Given the description of an element on the screen output the (x, y) to click on. 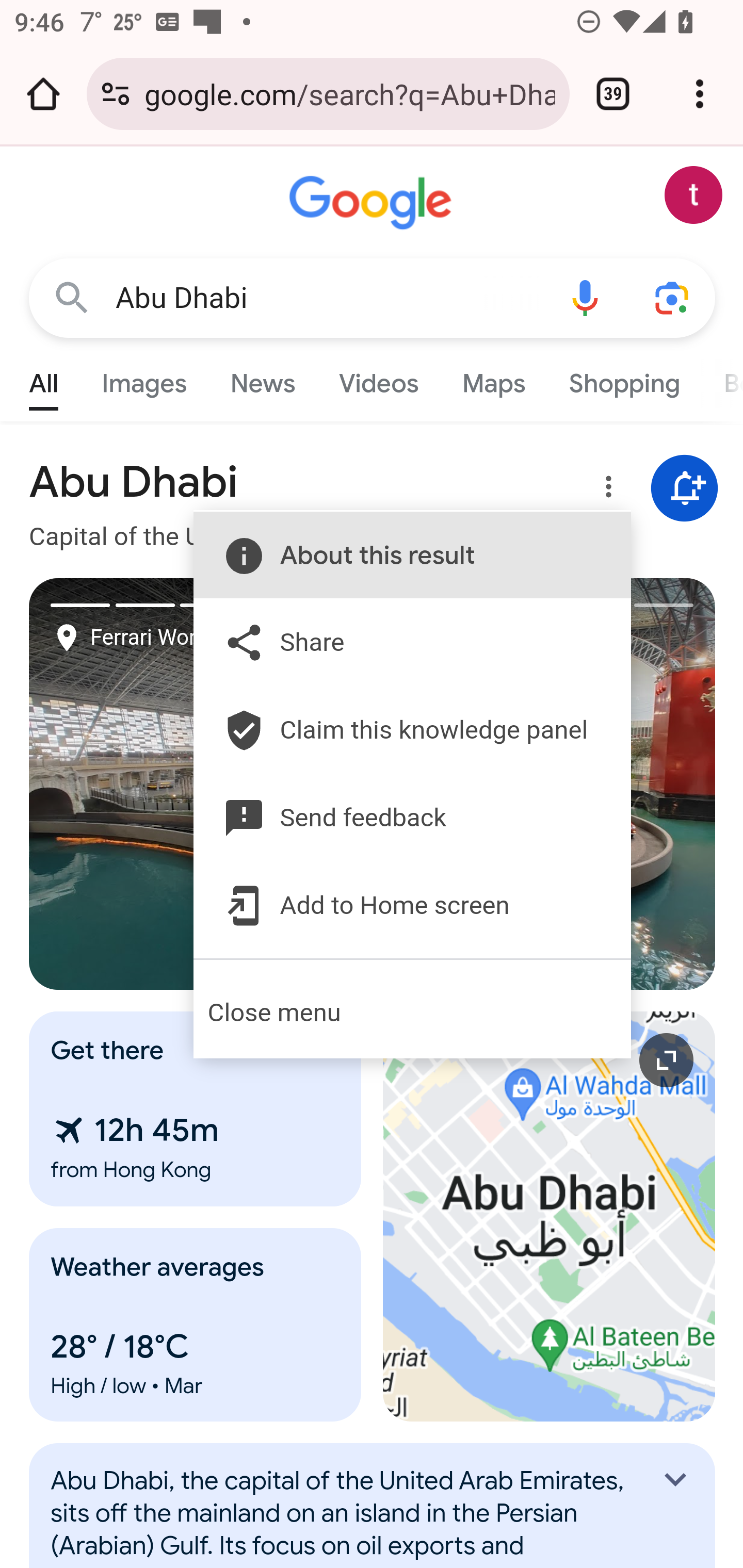
Open the home page (43, 93)
Connection is secure (115, 93)
Switch or close tabs (612, 93)
Customize and control Google Chrome (699, 93)
Google (372, 203)
Google Search (71, 296)
Search using your camera or photos (672, 296)
Abu Dhabi (328, 297)
Images (144, 378)
News (262, 378)
Videos (378, 378)
Maps (493, 378)
Shopping (623, 378)
Get notifications about Abu Dhabi (684, 489)
More options (605, 489)
About this result (396, 554)
Share (396, 641)
Claim this knowledge panel (396, 730)
Add to Home screen (396, 905)
Close menu (411, 1012)
Weather averages 28° / 18°C High / low • Mar (195, 1324)
